Given the description of an element on the screen output the (x, y) to click on. 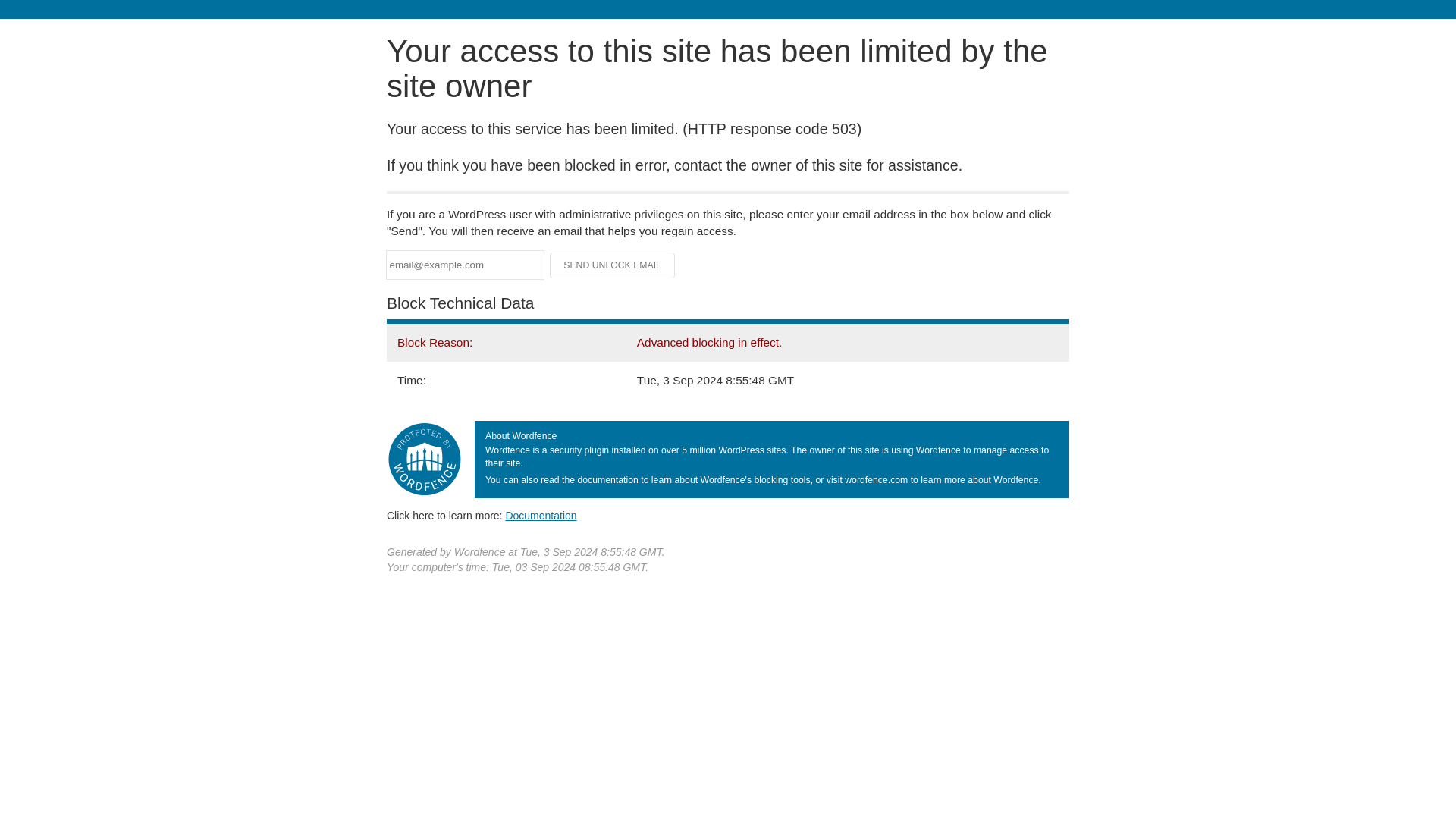
Documentation (540, 515)
Send Unlock Email (612, 265)
Send Unlock Email (612, 265)
